Given the description of an element on the screen output the (x, y) to click on. 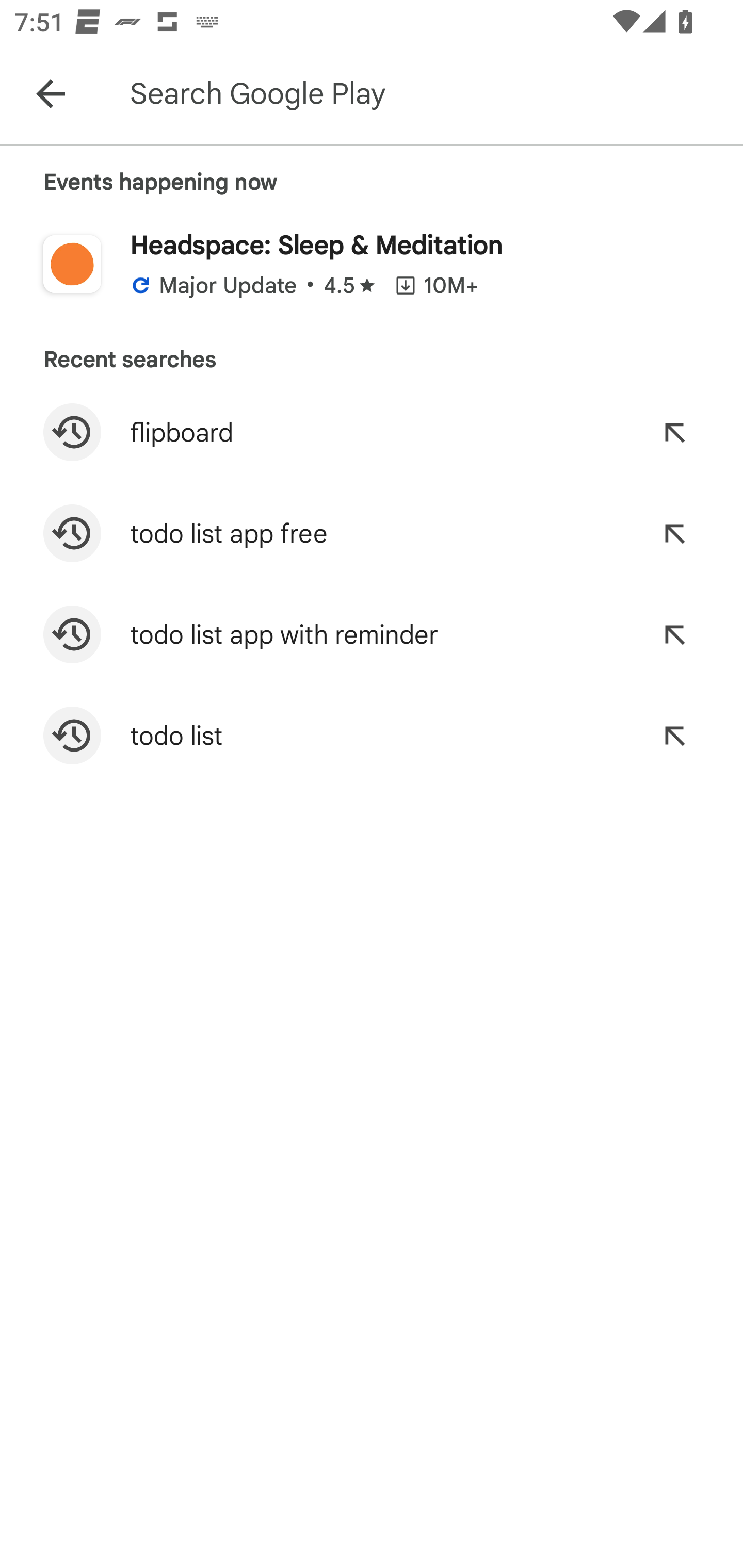
Navigate up (50, 93)
Search Google Play (432, 93)
Refine search to "flipboard" (673, 431)
Refine search to "todo list app free" (673, 532)
Refine search to "todo list app with reminder" (673, 634)
Refine search to "todo list" (673, 735)
